Given the description of an element on the screen output the (x, y) to click on. 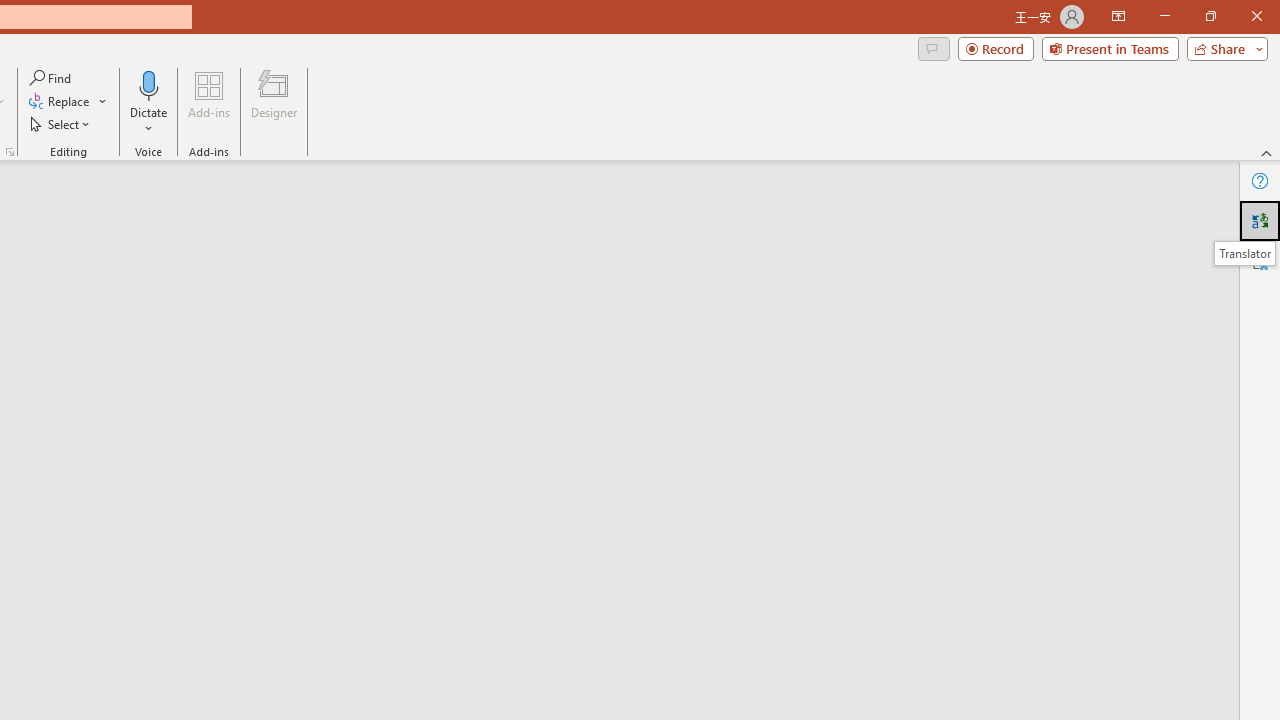
Help (1260, 180)
Select (61, 124)
Translator (1260, 220)
Present in Teams (1109, 48)
Format Object... (9, 151)
Close (1256, 16)
Designer (274, 102)
Share (1223, 48)
